Given the description of an element on the screen output the (x, y) to click on. 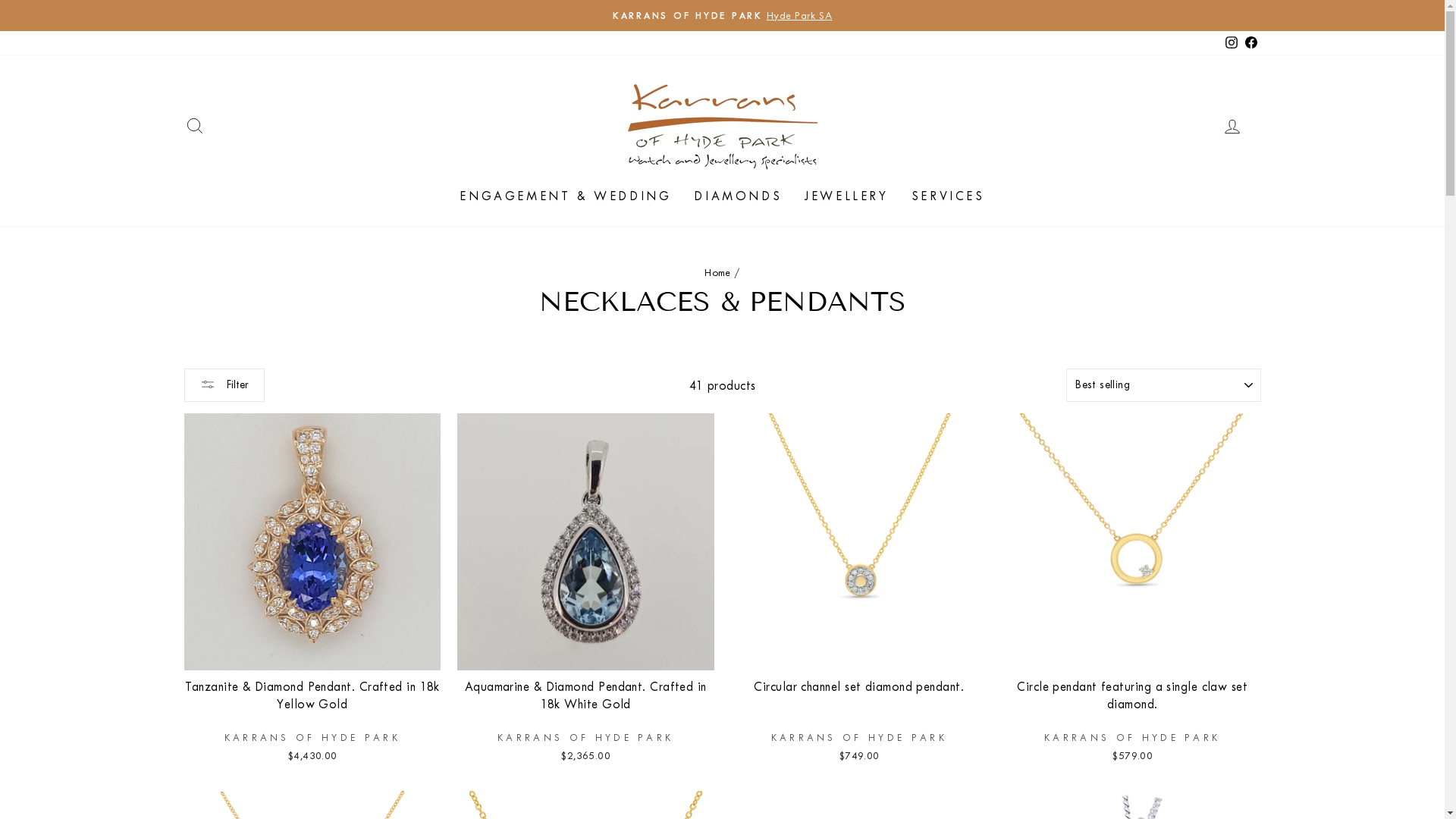
Home Element type: text (717, 272)
KARRANS OF HYDE PARKHyde Park SA Element type: text (722, 15)
SEARCH Element type: text (193, 125)
Facebook Element type: text (1250, 42)
LOG IN Element type: text (1231, 125)
JEWELLERY Element type: text (846, 195)
Filter Element type: text (224, 384)
Skip to content Element type: text (0, 0)
ENGAGEMENT & WEDDING Element type: text (565, 195)
Instagram Element type: text (1230, 42)
DIAMONDS Element type: text (737, 195)
SERVICES Element type: text (948, 195)
